Given the description of an element on the screen output the (x, y) to click on. 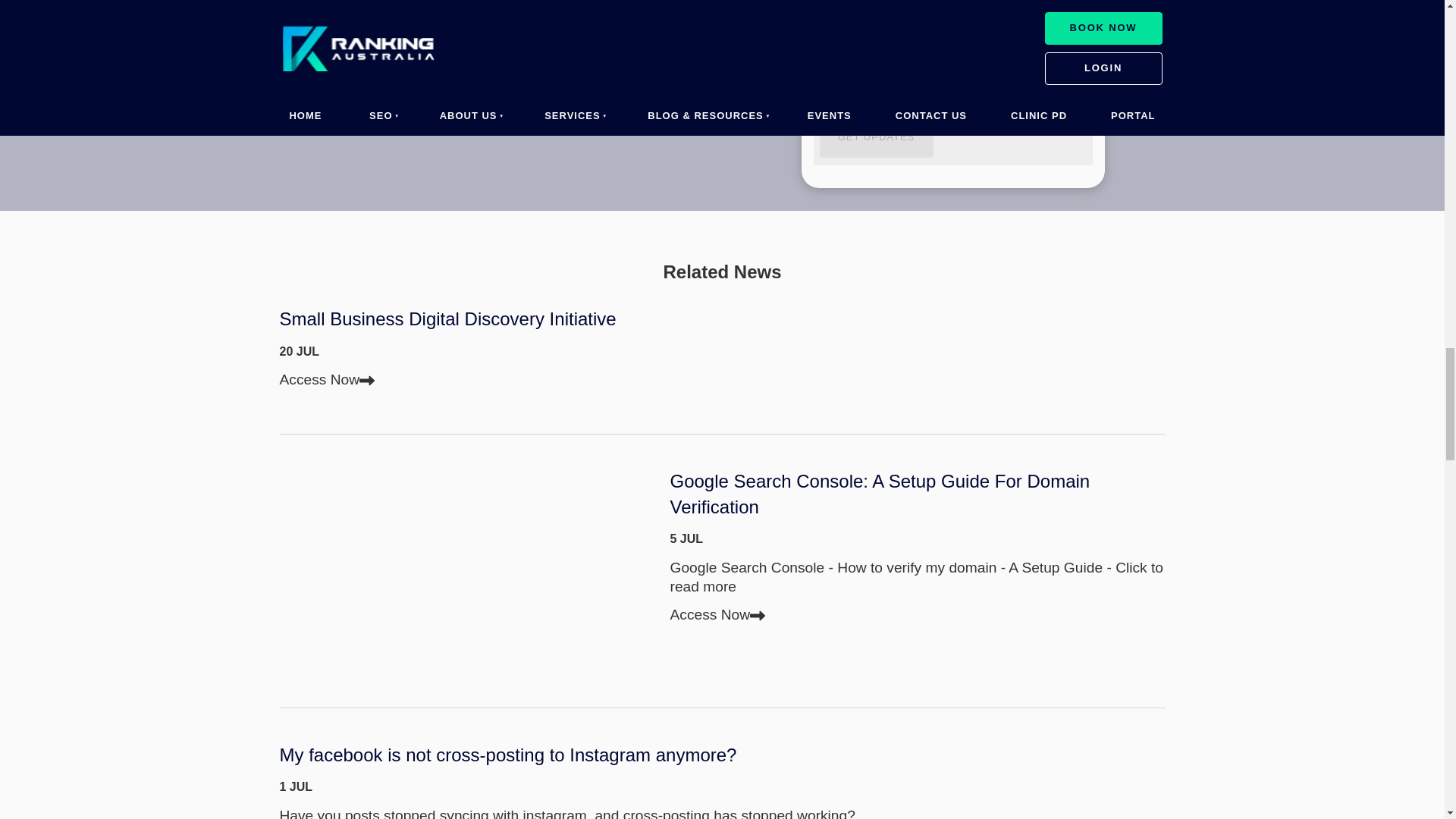
Access Now (326, 379)
Google Search Console: A Setup Guide For Domain Verification (468, 570)
Google Search Console: A Setup Guide For Domain Verification (917, 494)
My facebook is not cross-posting to Instagram anymore? (721, 755)
Small Business Digital Discovery Initiative (721, 319)
Access Now (717, 614)
GET UPDATES (875, 137)
